Given the description of an element on the screen output the (x, y) to click on. 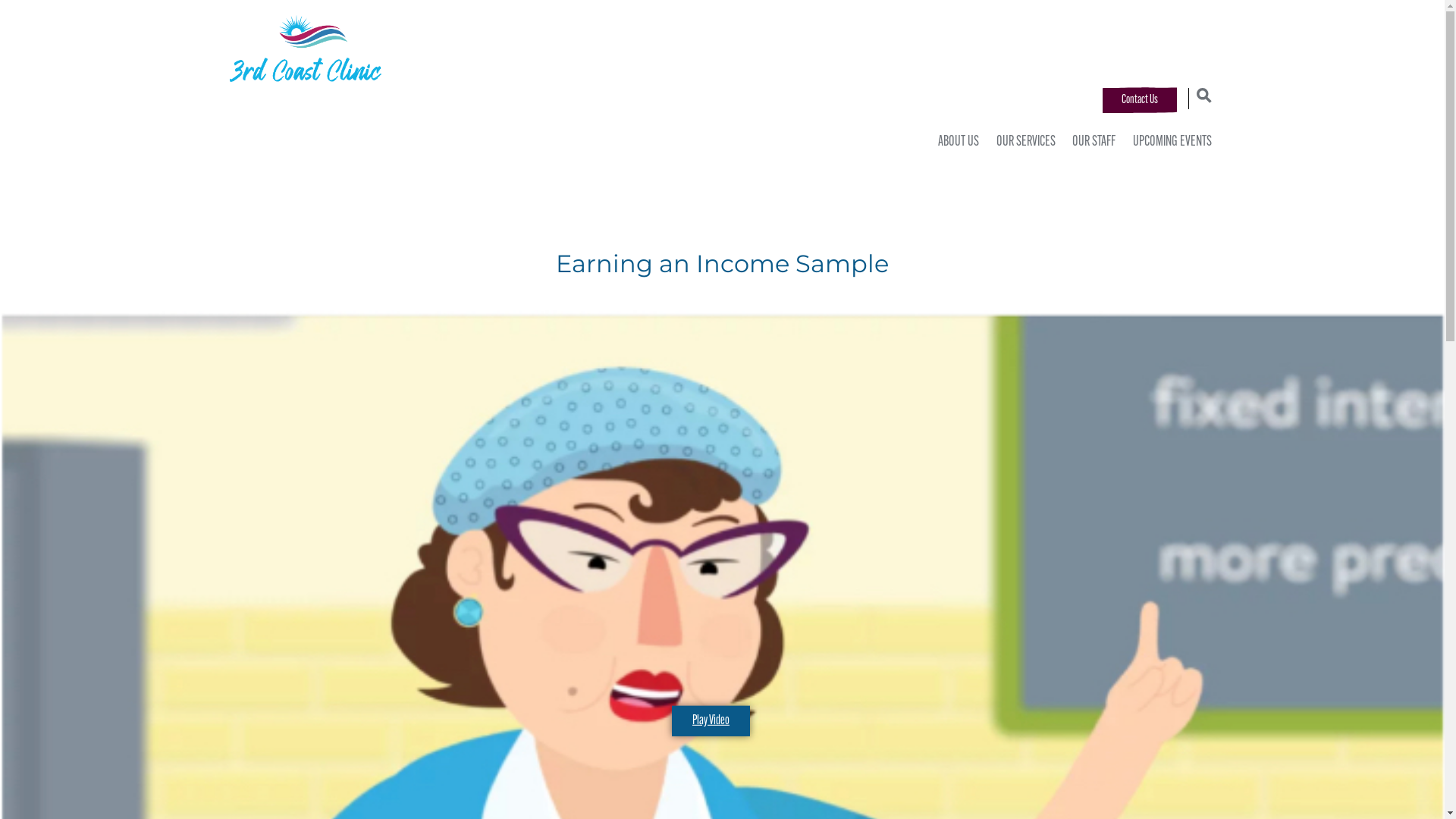
OUR SERVICES Element type: text (1022, 142)
UPCOMING EVENTS Element type: text (1168, 142)
ABOUT US Element type: text (955, 142)
Play Video Element type: text (710, 721)
OUR STAFF Element type: text (1090, 142)
Contact Us Element type: text (1139, 99)
